Given the description of an element on the screen output the (x, y) to click on. 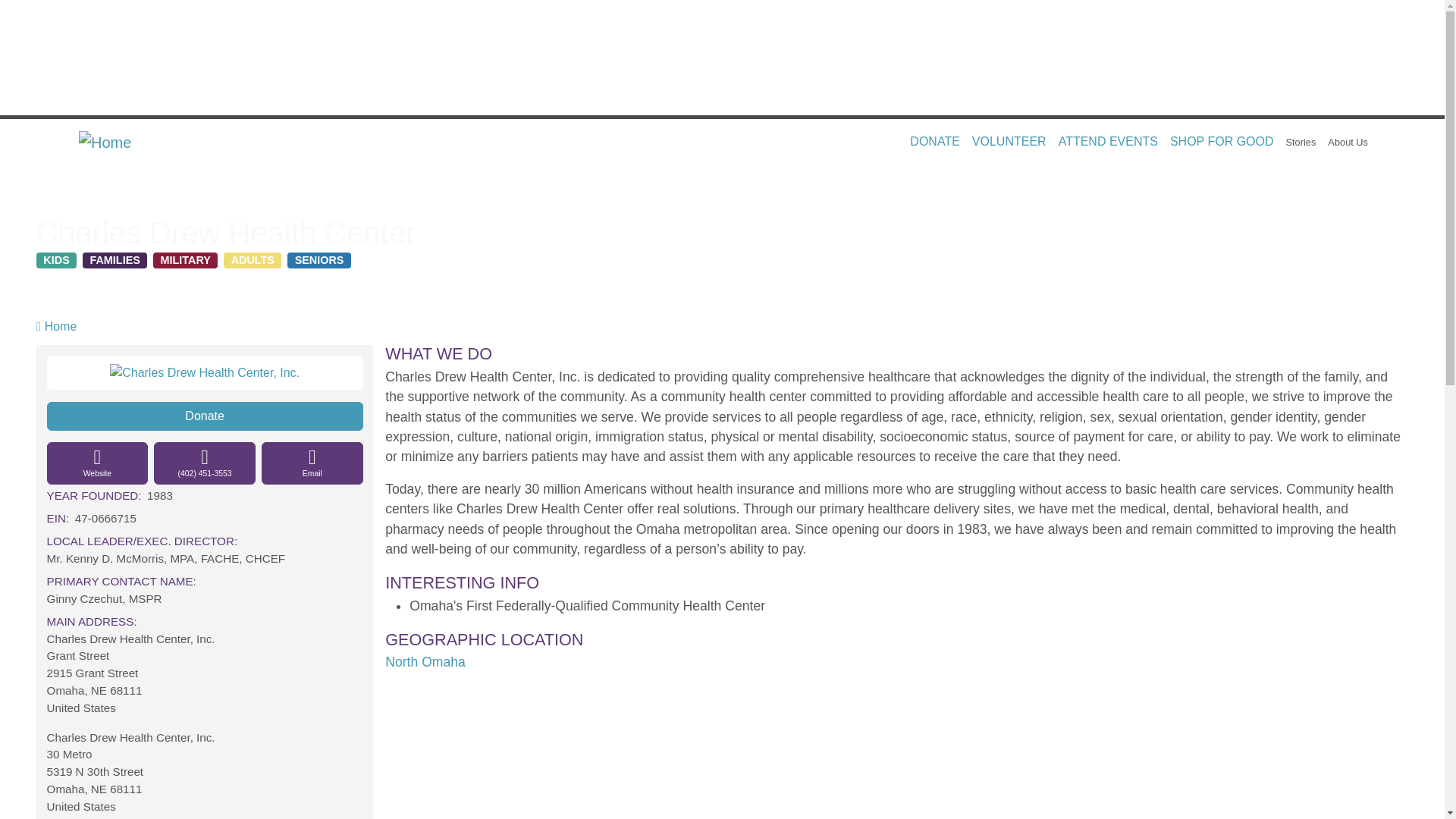
KIDS (56, 260)
MILITARY (184, 260)
Home (110, 142)
Stories (1300, 141)
DONATE (934, 141)
ATTEND EVENTS (1107, 141)
SENIORS (318, 260)
Donate (204, 416)
SHOP FOR GOOD (1221, 141)
ADULTS (252, 260)
